Given the description of an element on the screen output the (x, y) to click on. 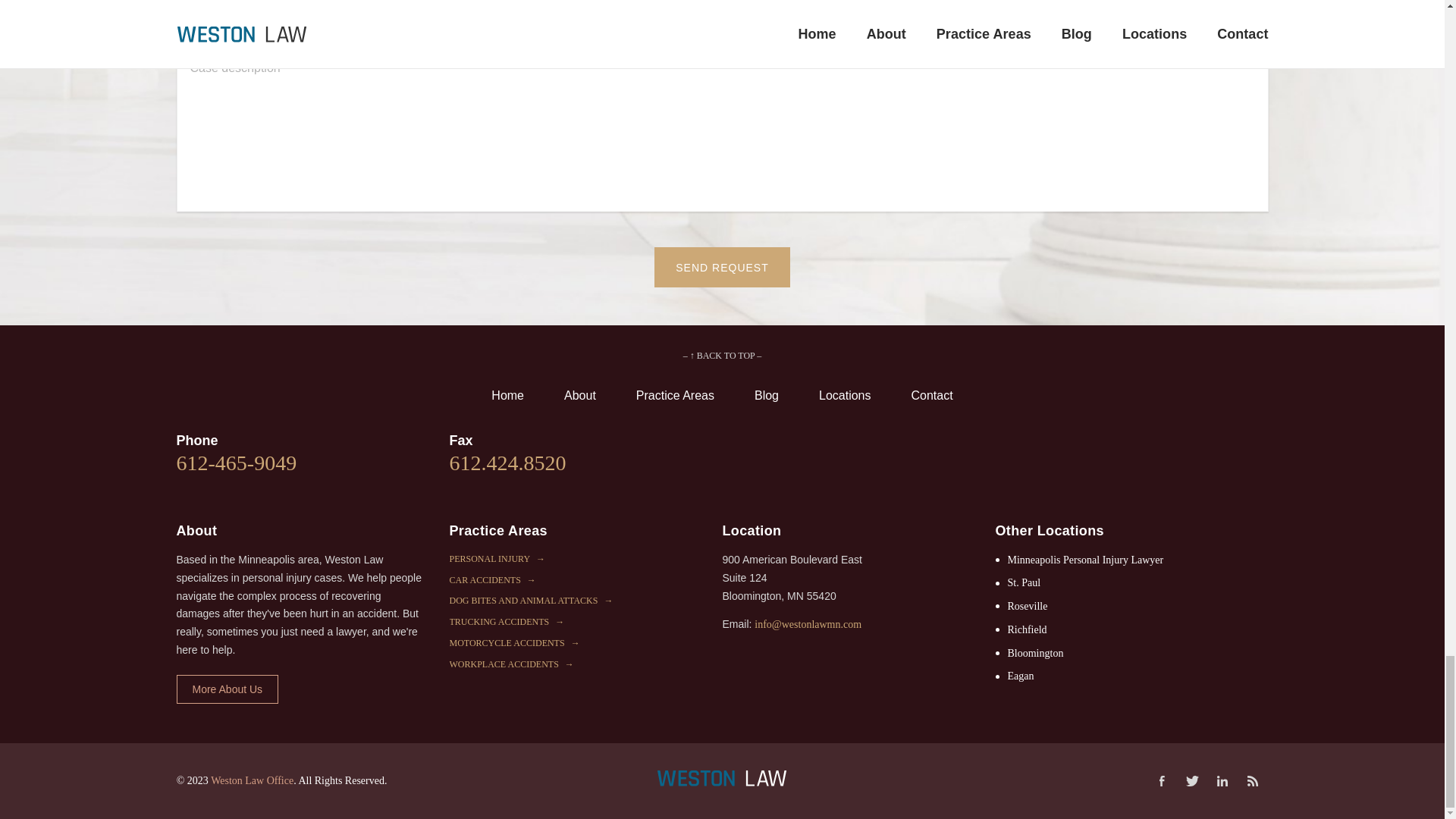
Send Request (721, 266)
